Given the description of an element on the screen output the (x, y) to click on. 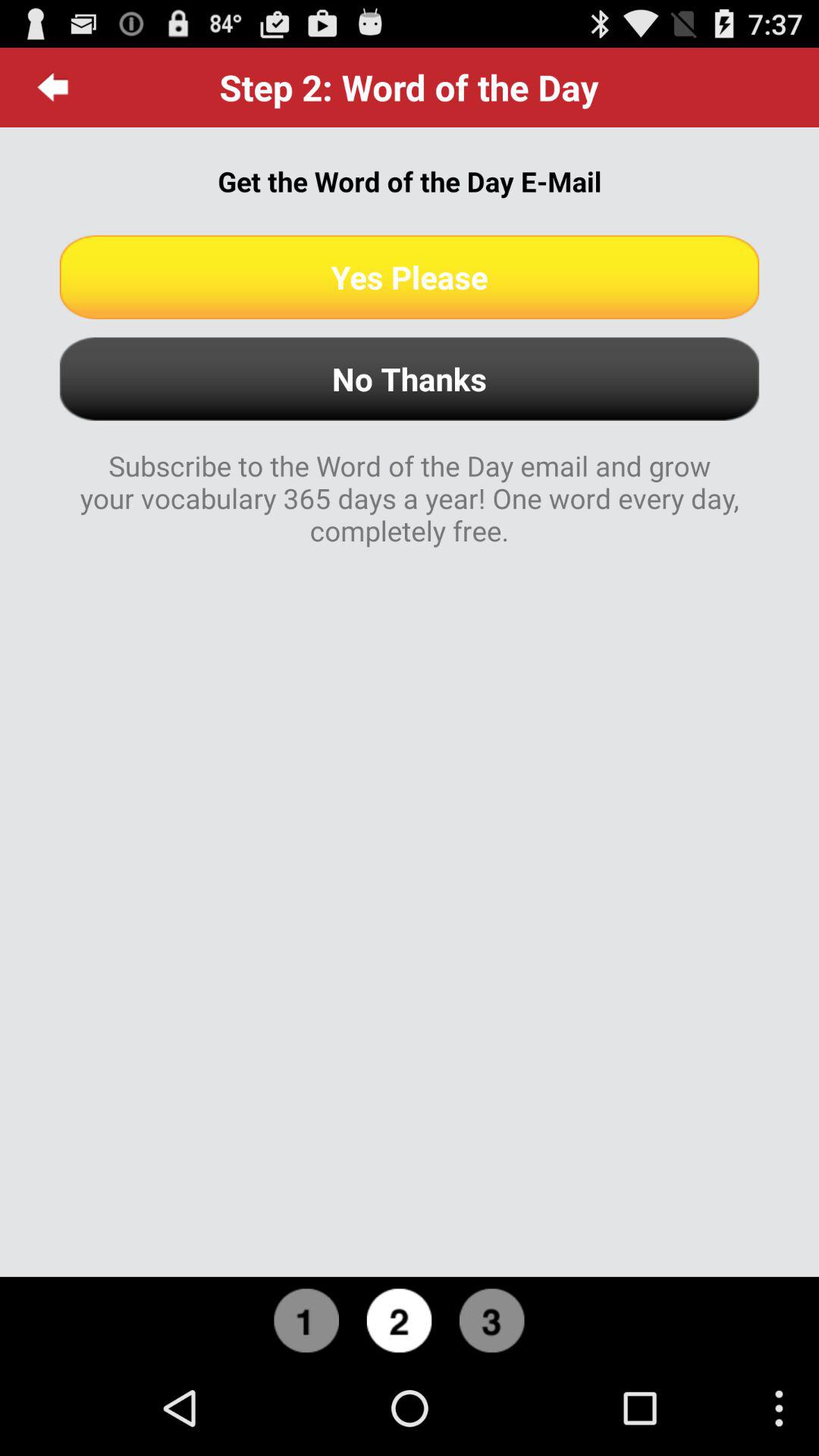
tap the item above the no thanks (409, 277)
